Given the description of an element on the screen output the (x, y) to click on. 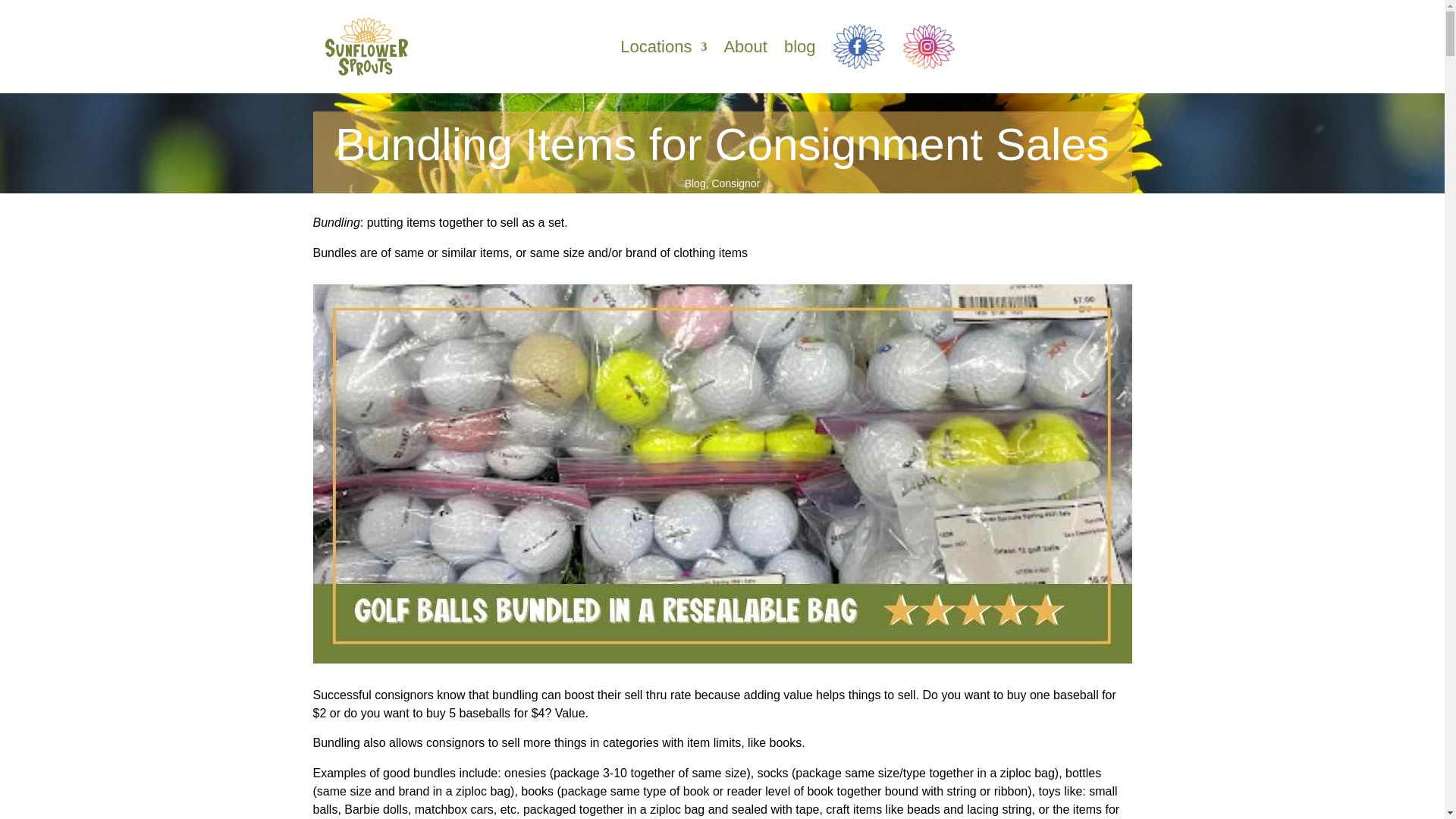
Consignor (735, 183)
About (745, 46)
Blog (695, 183)
Locations (663, 46)
blog (799, 46)
